Given the description of an element on the screen output the (x, y) to click on. 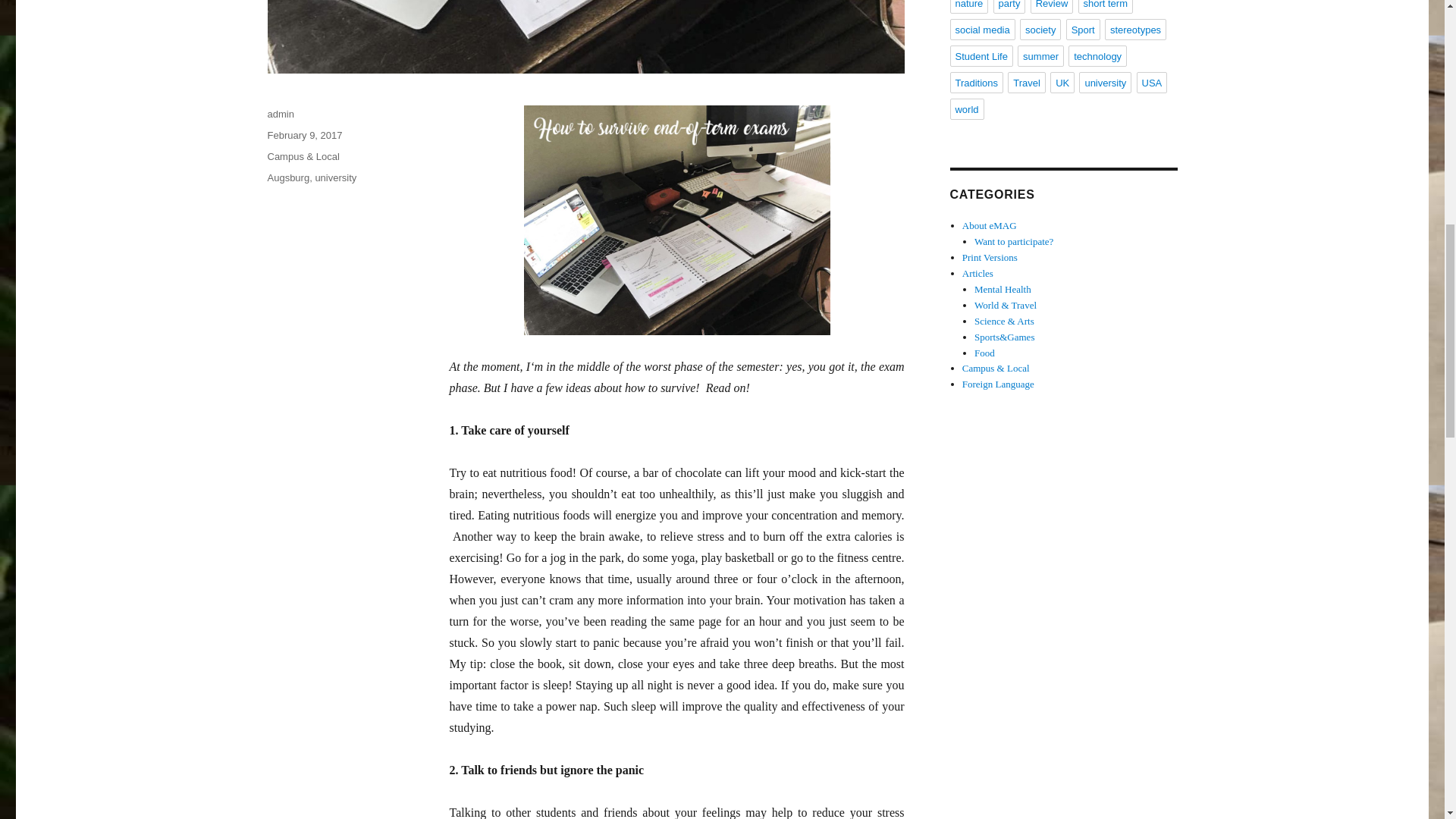
university (335, 177)
Augsburg (287, 177)
admin (280, 113)
February 9, 2017 (304, 134)
